Given the description of an element on the screen output the (x, y) to click on. 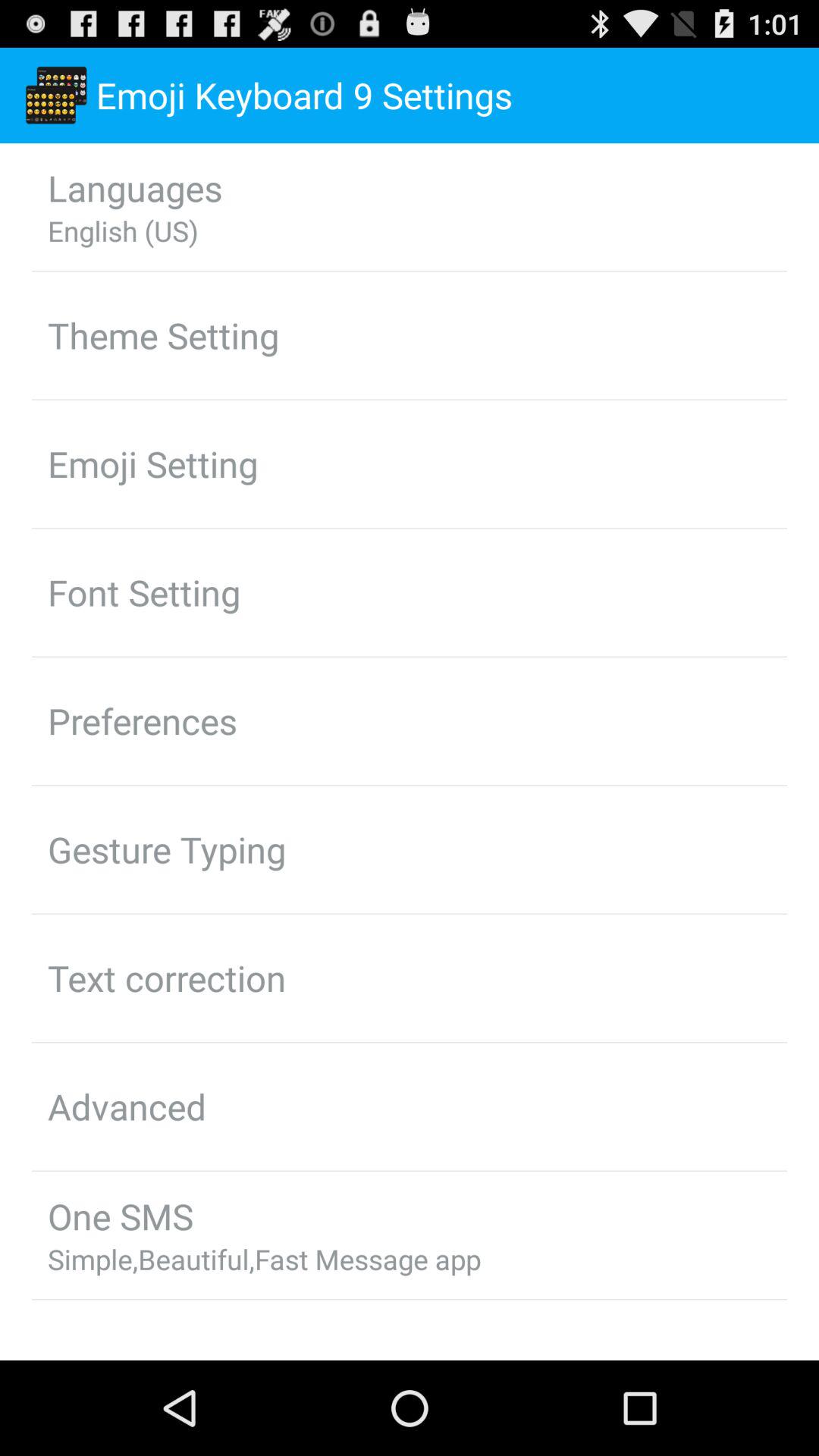
select app above text correction app (166, 849)
